Given the description of an element on the screen output the (x, y) to click on. 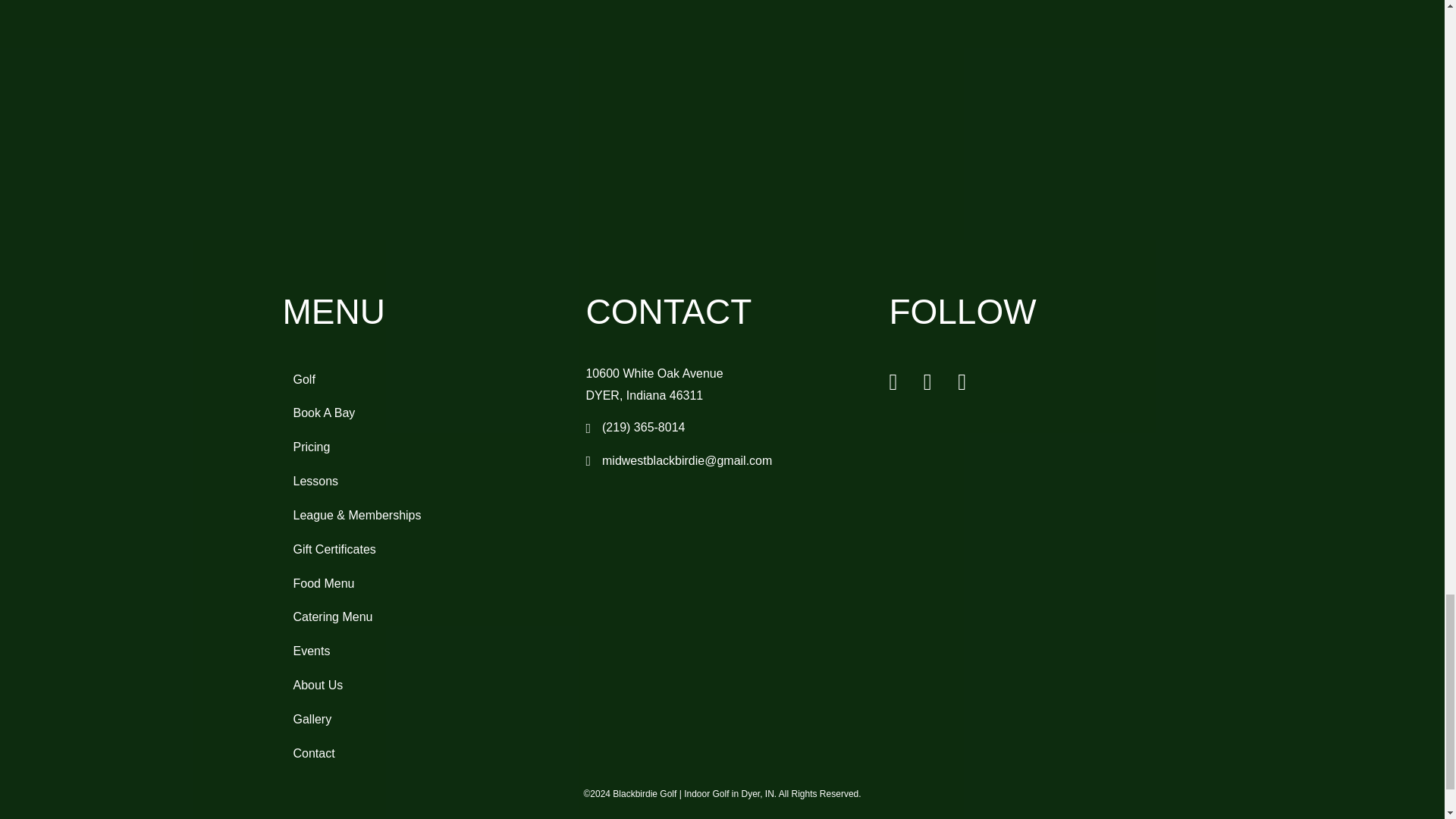
Catering Menu (418, 616)
Events (418, 651)
Pricing (418, 447)
blackbirdie crest (722, 128)
Gallery (418, 719)
About Us (418, 685)
Contact (418, 753)
Gift Certificates (418, 549)
Lessons (418, 481)
Golf (418, 379)
Food Menu (418, 583)
Book A Bay (418, 412)
